Given the description of an element on the screen output the (x, y) to click on. 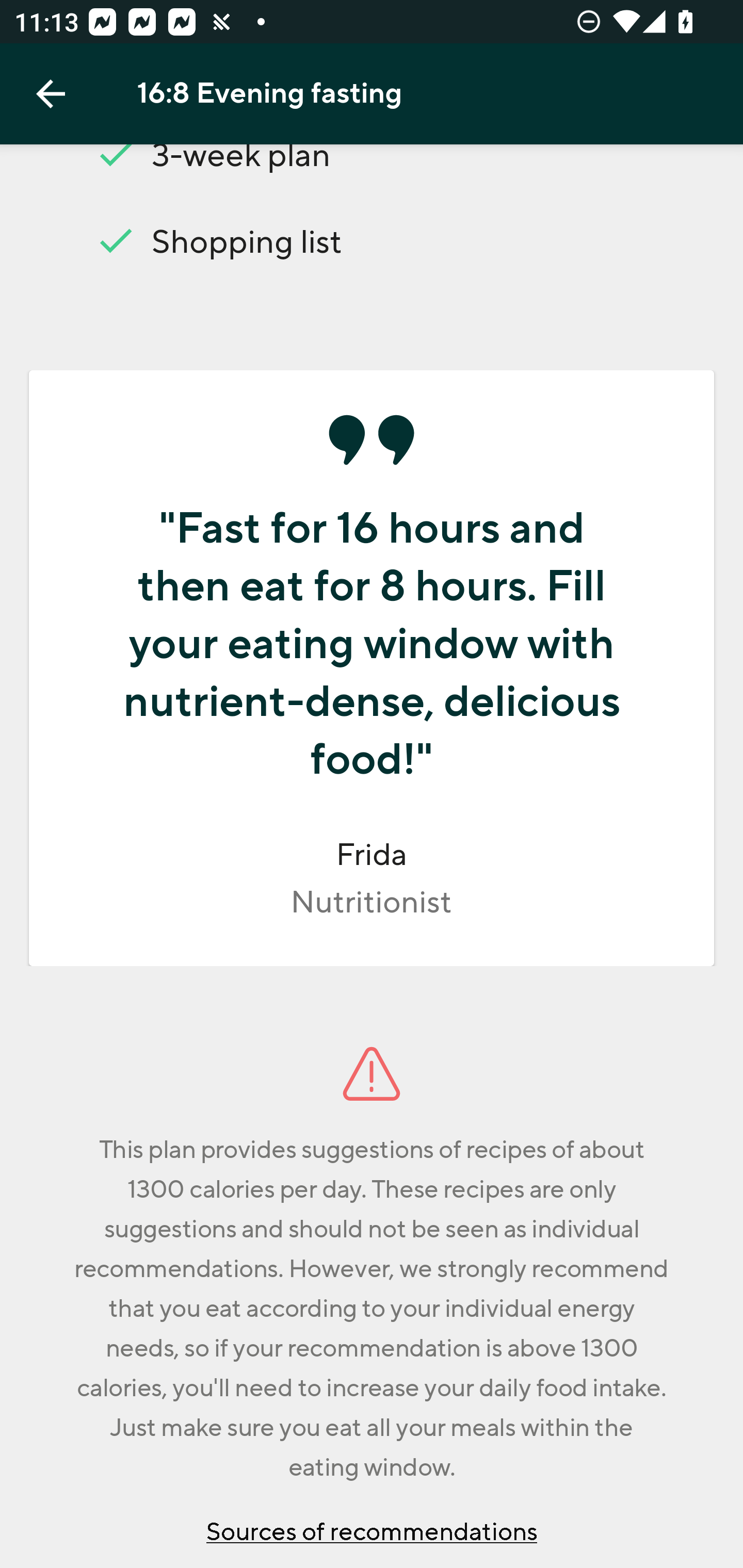
Navigate up (50, 93)
Sources of recommendations (371, 1531)
